Given the description of an element on the screen output the (x, y) to click on. 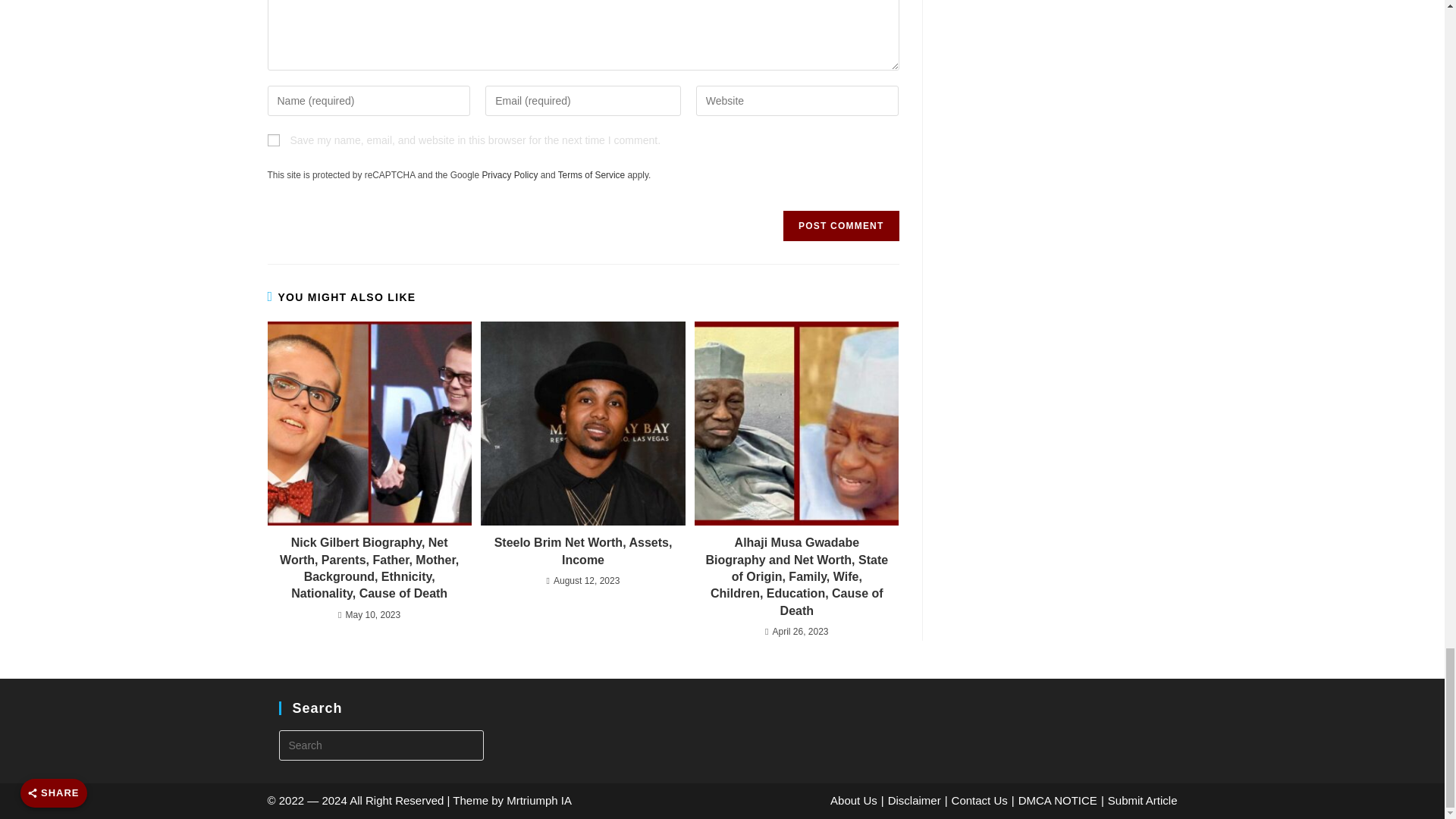
yes (272, 140)
Post Comment (840, 225)
